Given the description of an element on the screen output the (x, y) to click on. 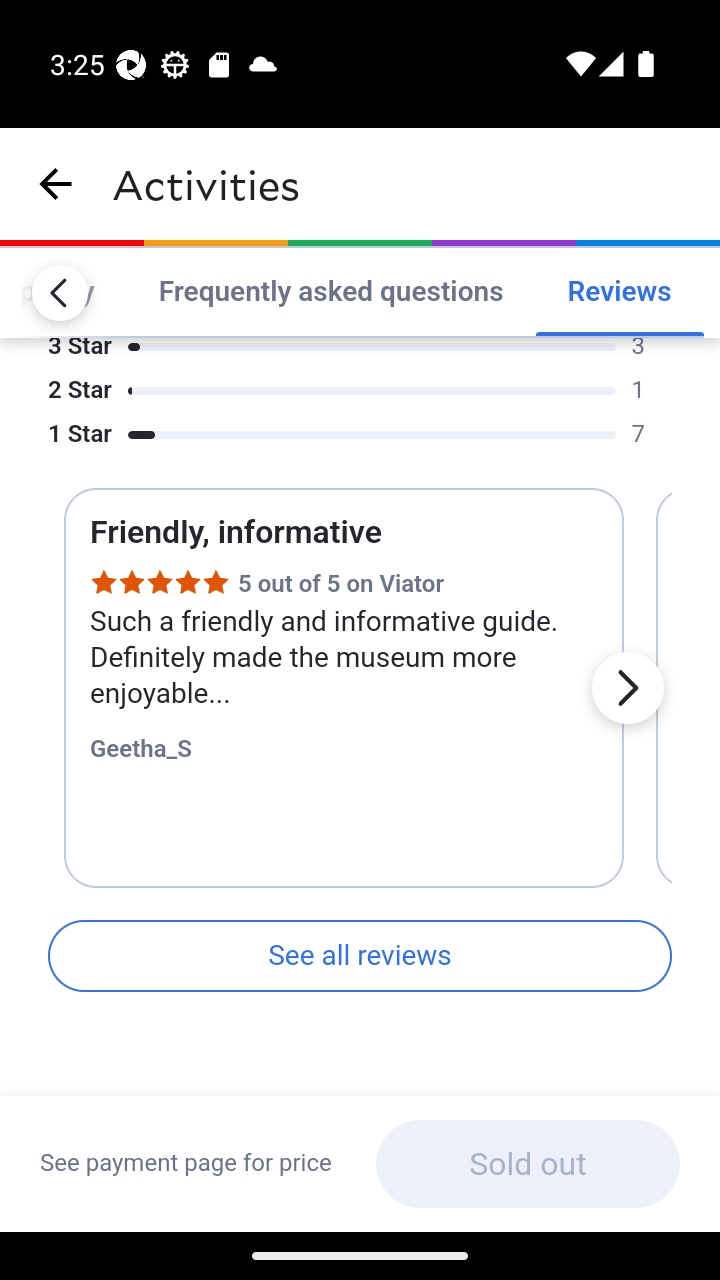
navigation_button (56, 184)
Frequently asked questions (330, 292)
Reviews (619, 292)
Next (627, 688)
See all reviews (359, 957)
Sold out (527, 1164)
